Given the description of an element on the screen output the (x, y) to click on. 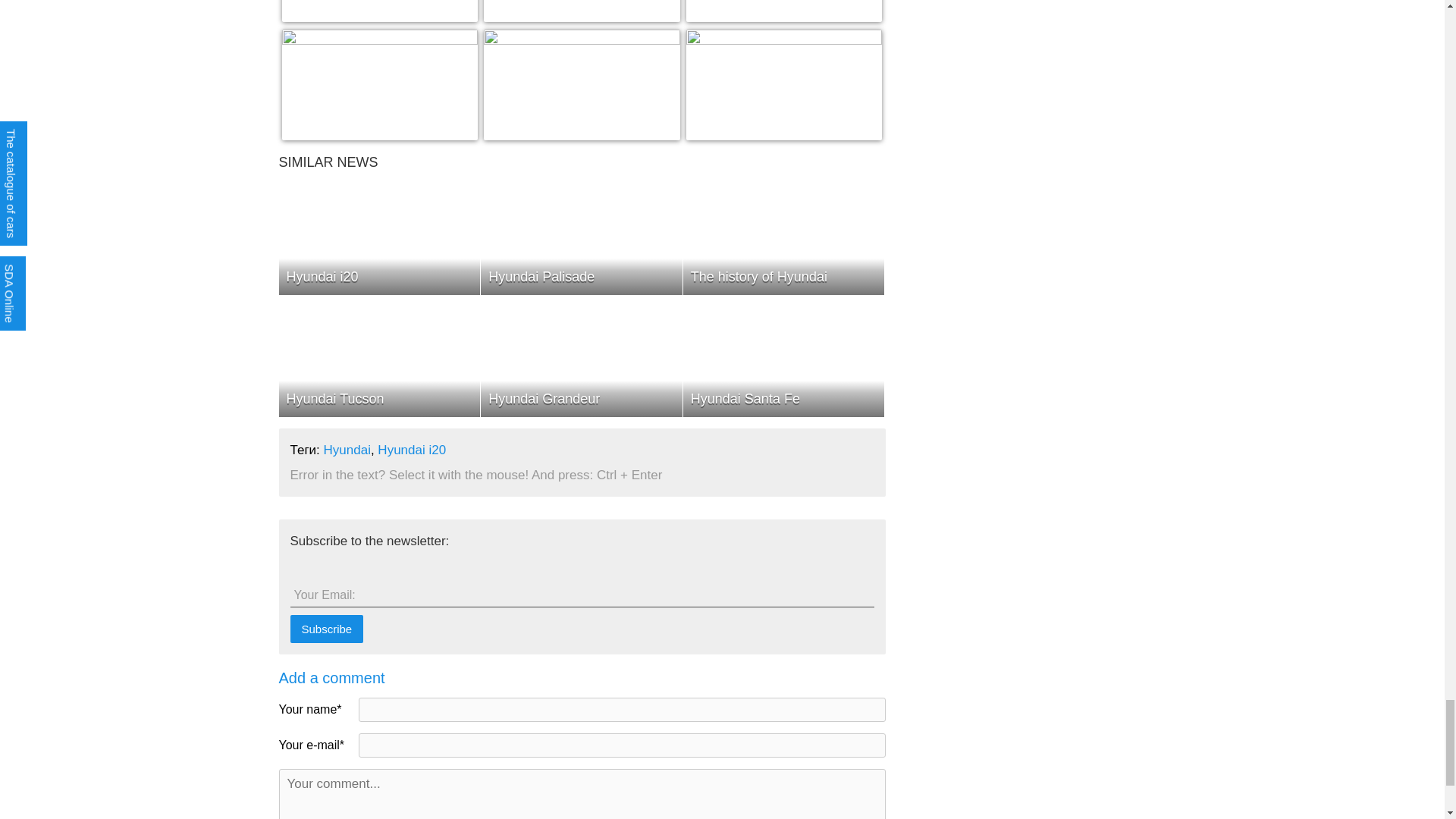
Subscribe (325, 628)
Hyundai i20 (380, 84)
Hyundai i20 (380, 11)
Hyundai i20 (581, 11)
Hyundai i20 (783, 11)
Hyundai i20 (581, 84)
